Given the description of an element on the screen output the (x, y) to click on. 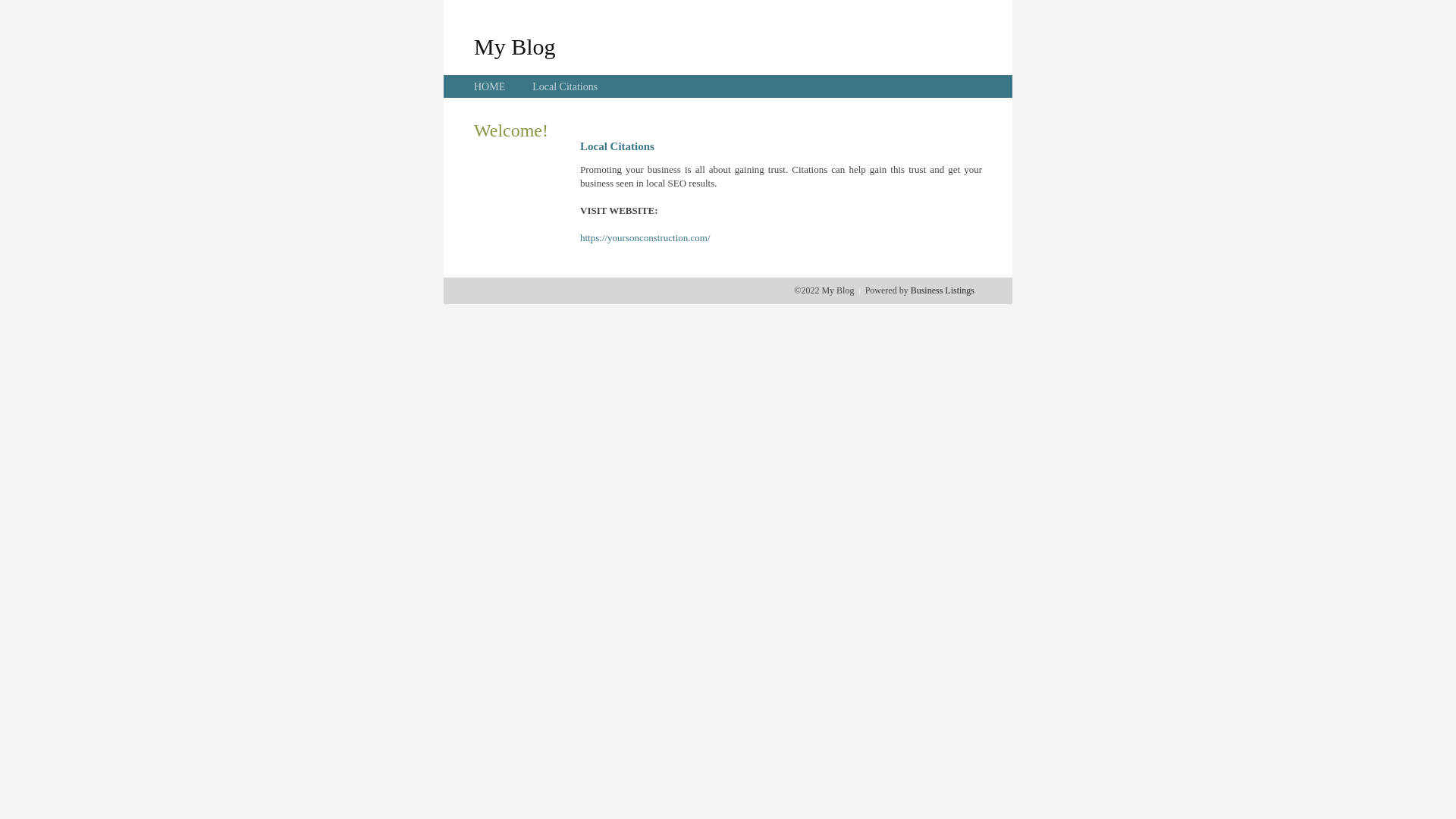
HOME Element type: text (489, 86)
Local Citations Element type: text (564, 86)
Business Listings Element type: text (942, 290)
My Blog Element type: text (514, 46)
https://yoursonconstruction.com/ Element type: text (645, 237)
